Given the description of an element on the screen output the (x, y) to click on. 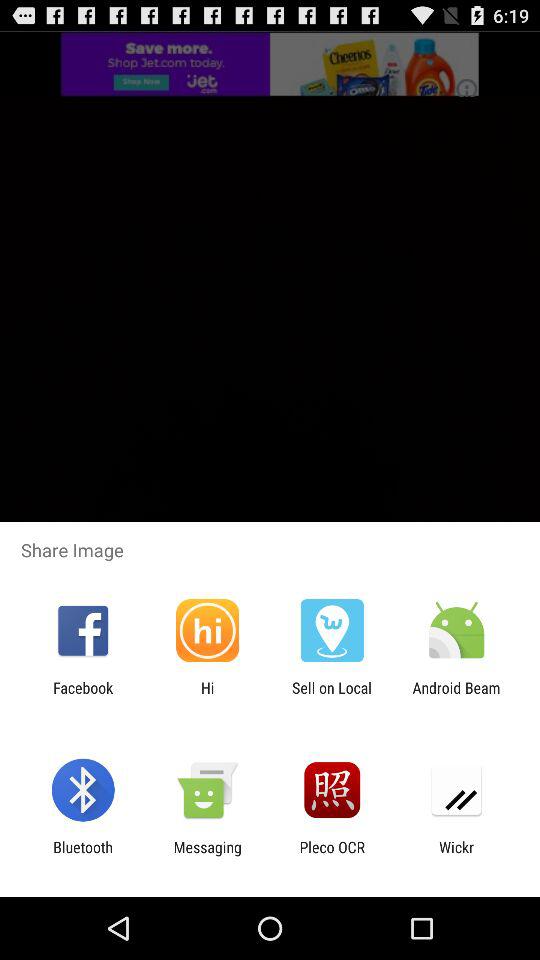
turn on hi item (207, 696)
